Given the description of an element on the screen output the (x, y) to click on. 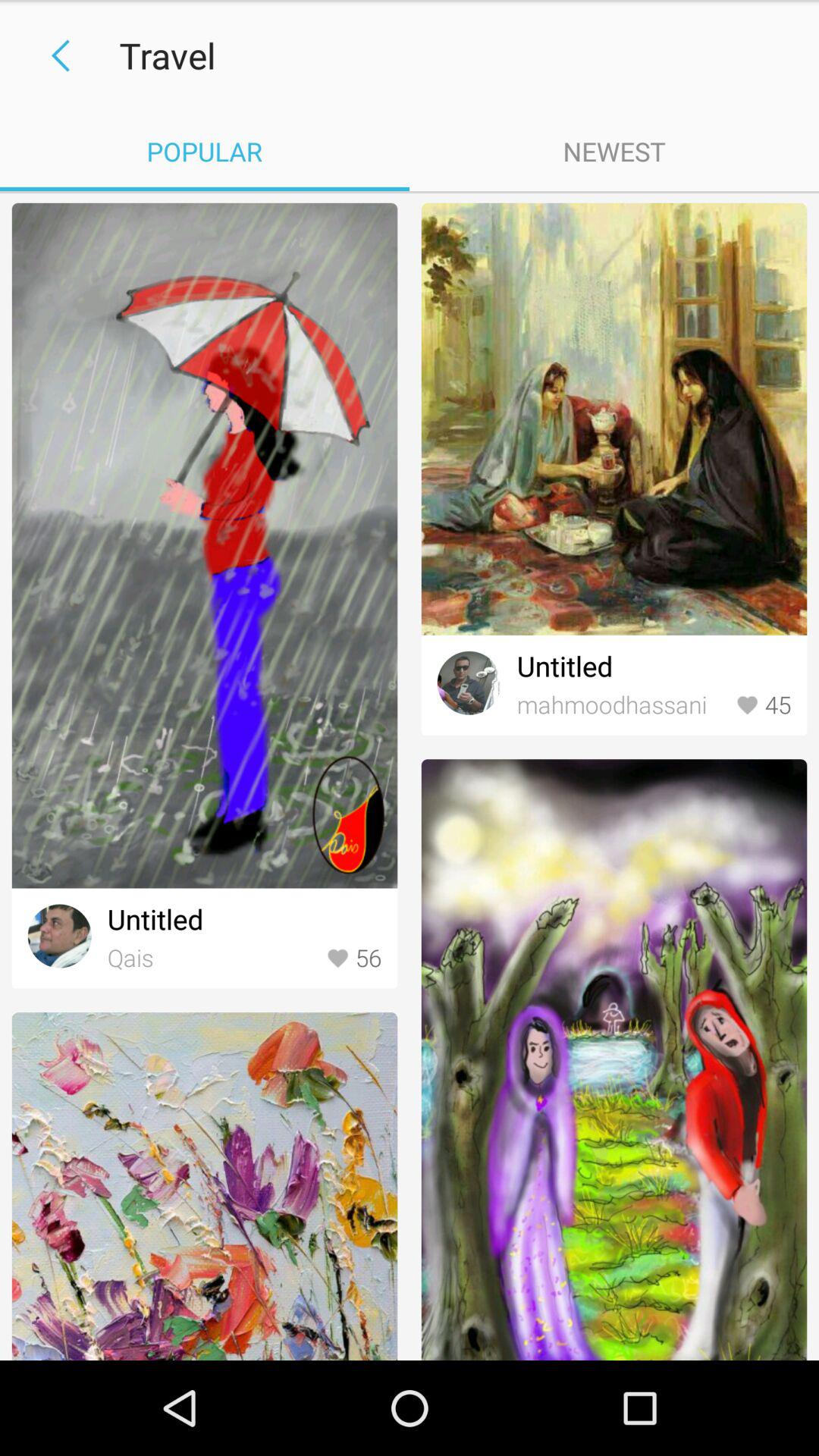
launch the icon next to travel item (55, 55)
